Given the description of an element on the screen output the (x, y) to click on. 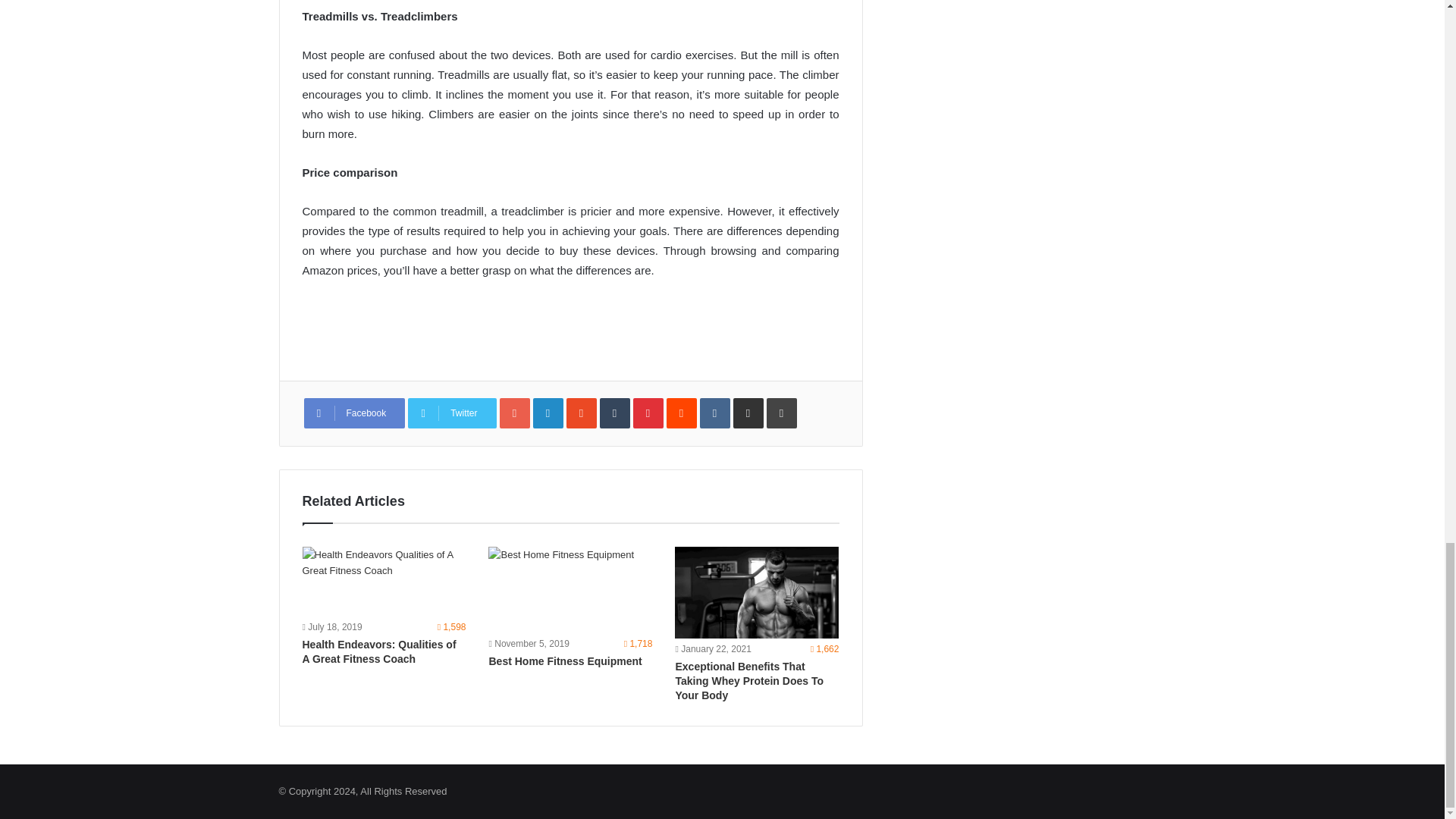
StumbleUpon (581, 413)
Best Home Fitness Equipment (569, 590)
Twitter (451, 413)
Pinterest (648, 413)
VKontakte (715, 413)
Share via Email (747, 413)
Best Home Fitness Equipment (564, 661)
LinkedIn (547, 413)
Facebook (353, 413)
Reddit (681, 413)
Tumblr (614, 413)
Health Endeavors: Qualities of A Great Fitness Coach (383, 581)
Health Endeavors: Qualities of A Great Fitness Coach (378, 651)
